Given the description of an element on the screen output the (x, y) to click on. 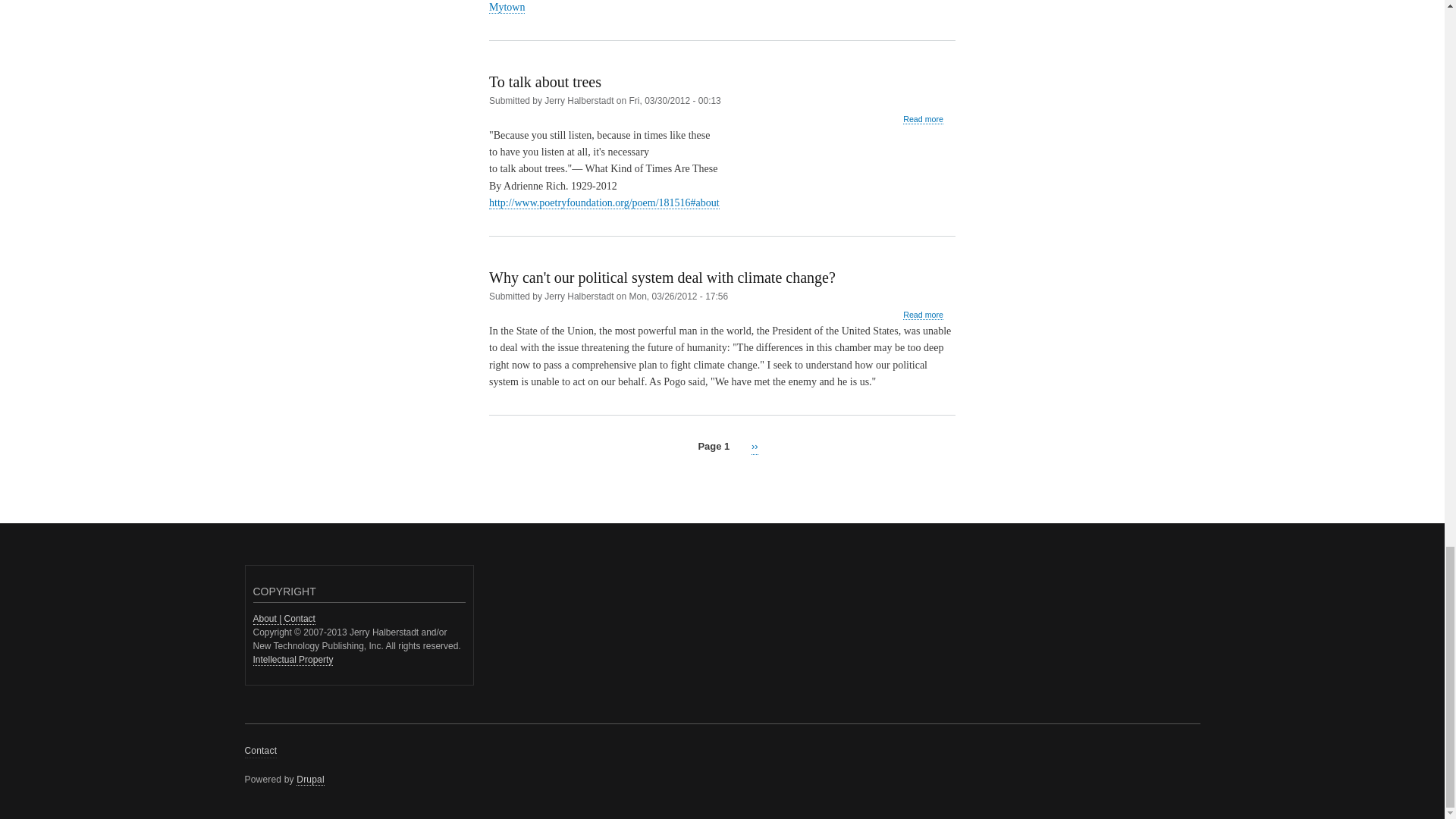
Planning for a sustainable energy future for Mytown (719, 6)
To talk about trees (545, 81)
Why can't our political system deal with climate change? (922, 315)
To talk about trees (922, 119)
